Given the description of an element on the screen output the (x, y) to click on. 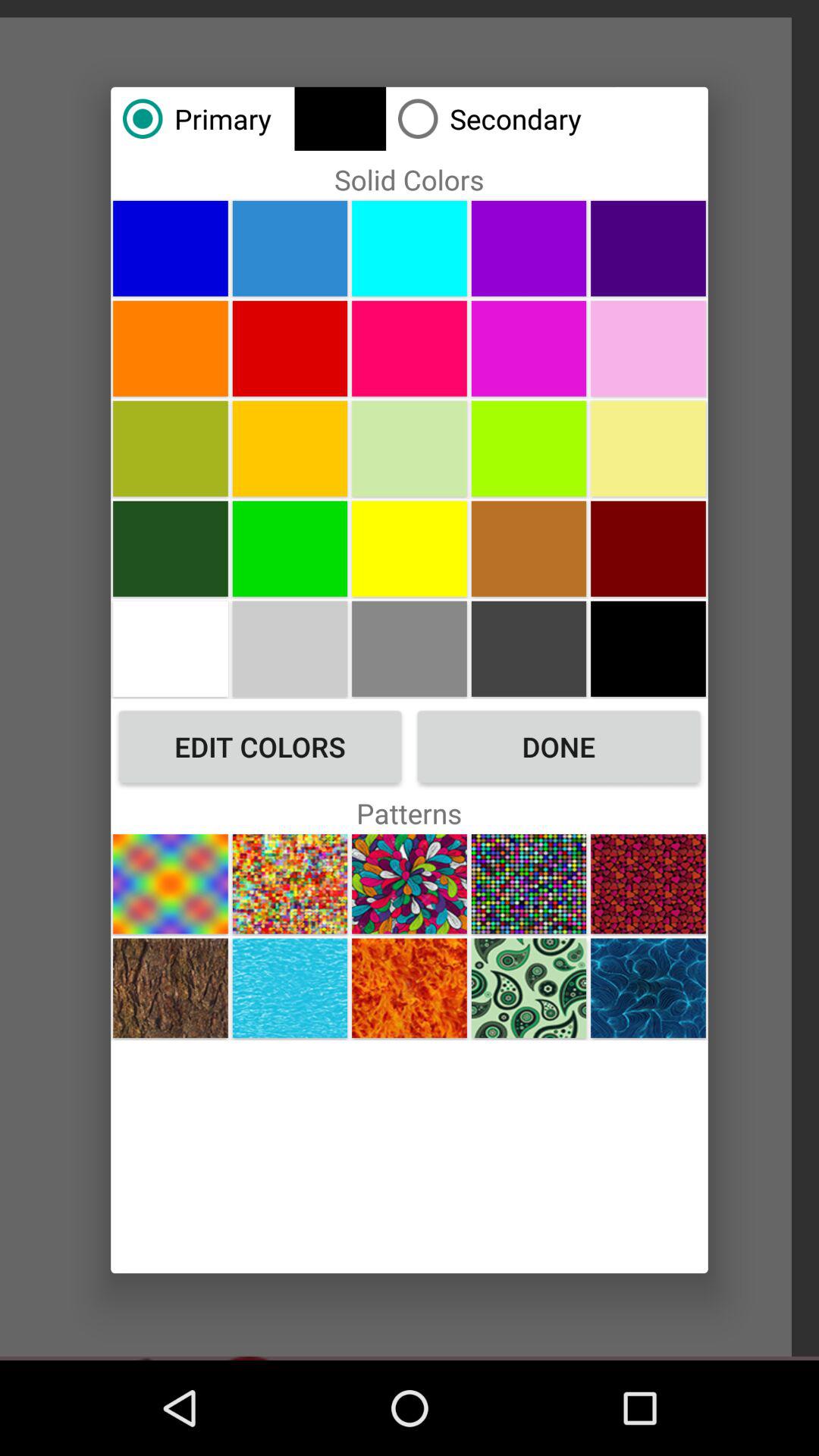
choose solid color (409, 248)
